Given the description of an element on the screen output the (x, y) to click on. 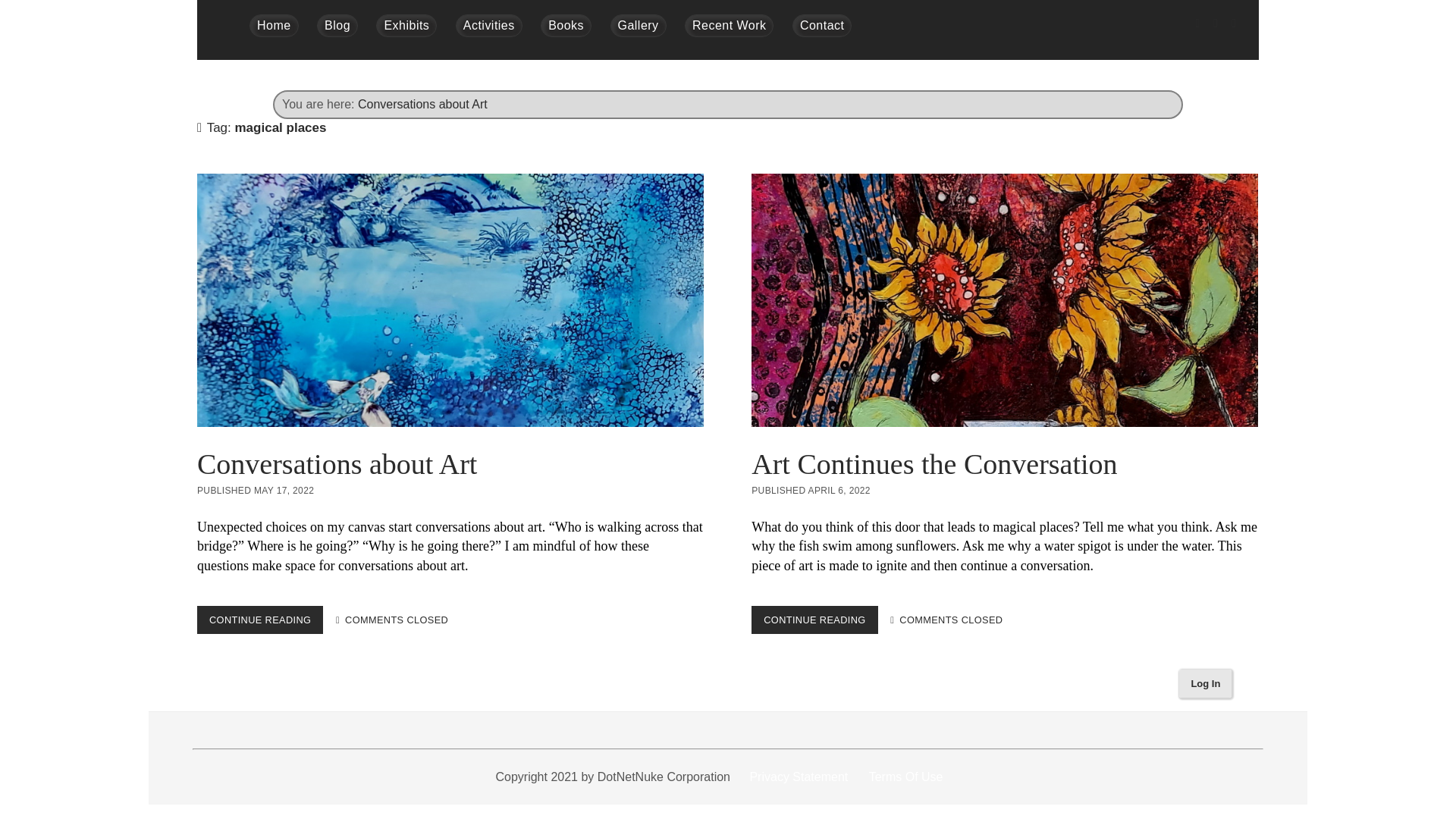
Conversations about Art (422, 103)
Activities (488, 25)
Books (565, 25)
Art Continues the Conversation (933, 463)
Privacy Statement (799, 776)
Terms Of Use (906, 776)
Log In (1205, 683)
Art Continues the Conversation (1004, 299)
Contact (821, 25)
Gallery (638, 25)
